Given the description of an element on the screen output the (x, y) to click on. 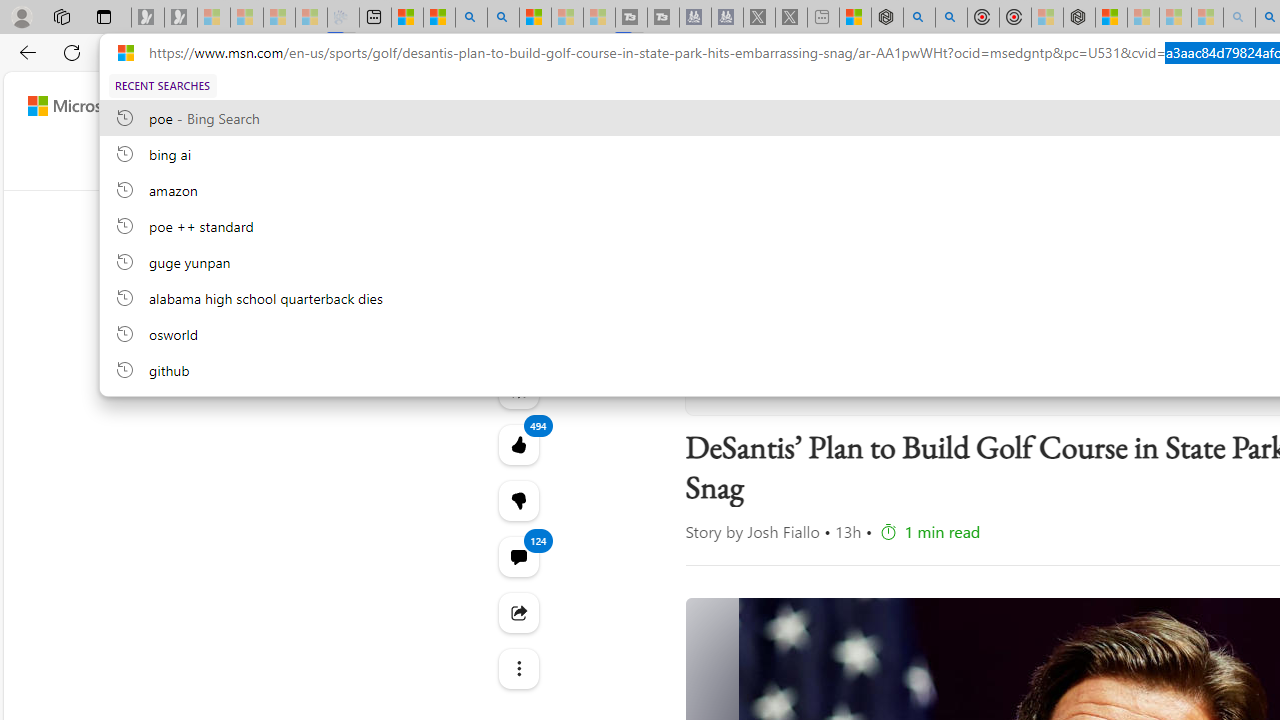
NFL (800, 162)
Class: button-glyph (505, 162)
Newsletter Sign Up - Sleeping (181, 17)
Golf (1107, 162)
New tab - Sleeping (822, 17)
Soccer (1041, 162)
Skip to footer (82, 105)
Listen to this article (517, 388)
Golf (1107, 162)
Soccer (1042, 162)
amazon - Search - Sleeping (1239, 17)
Streaming Coverage | T3 - Sleeping (630, 17)
Share this story (517, 612)
